Given the description of an element on the screen output the (x, y) to click on. 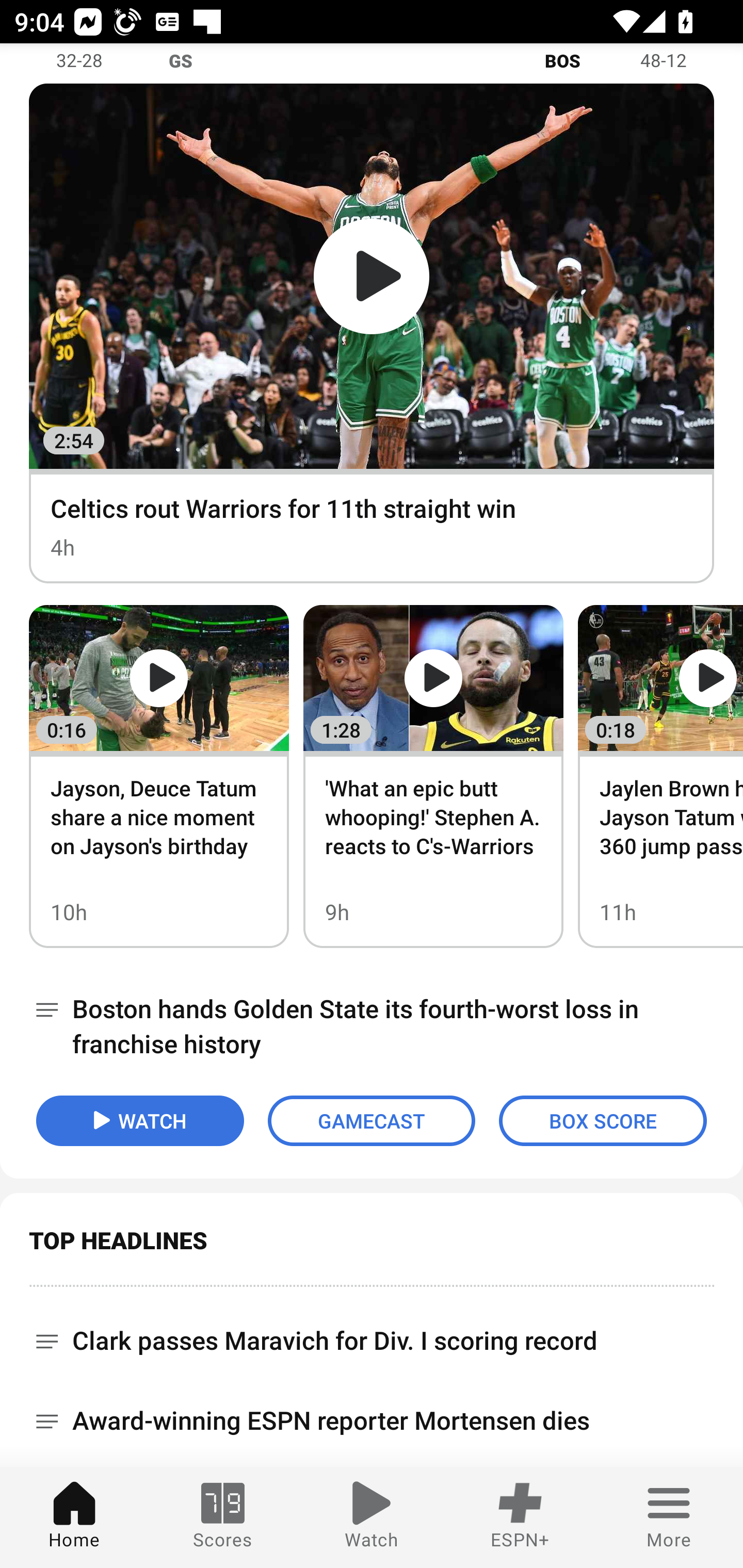
Content 32-28 GS Content BOS 48-12 (371, 63)
 WATCH (139, 1121)
GAMECAST (371, 1121)
BOX SCORE (602, 1121)
 Clark passes Maravich for Div. I scoring record (371, 1334)
 Award-winning ESPN reporter Mortensen dies (371, 1421)
Scores (222, 1517)
Watch (371, 1517)
ESPN+ (519, 1517)
More (668, 1517)
